Given the description of an element on the screen output the (x, y) to click on. 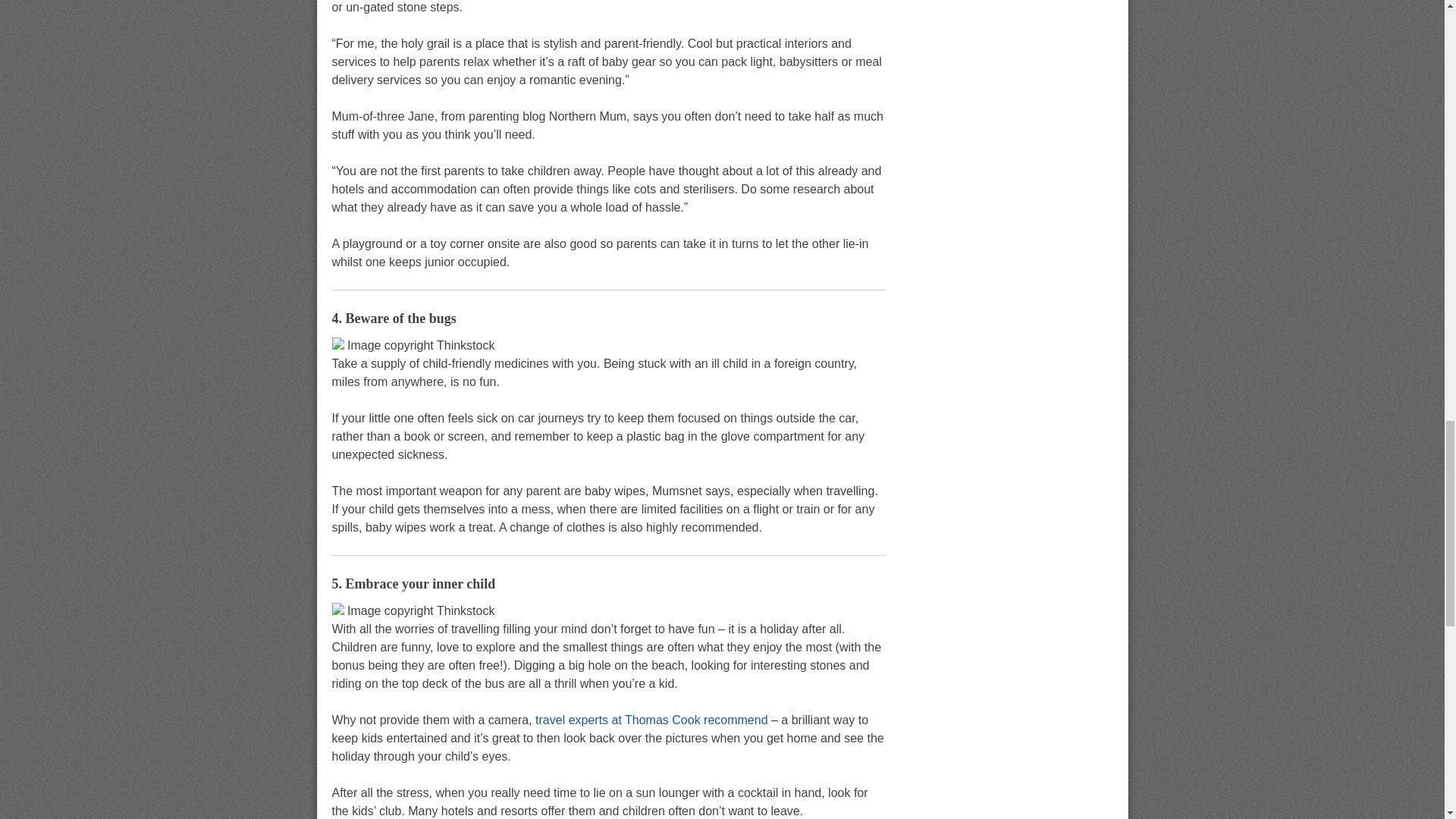
travel experts at Thomas Cook recommend (651, 718)
